Given the description of an element on the screen output the (x, y) to click on. 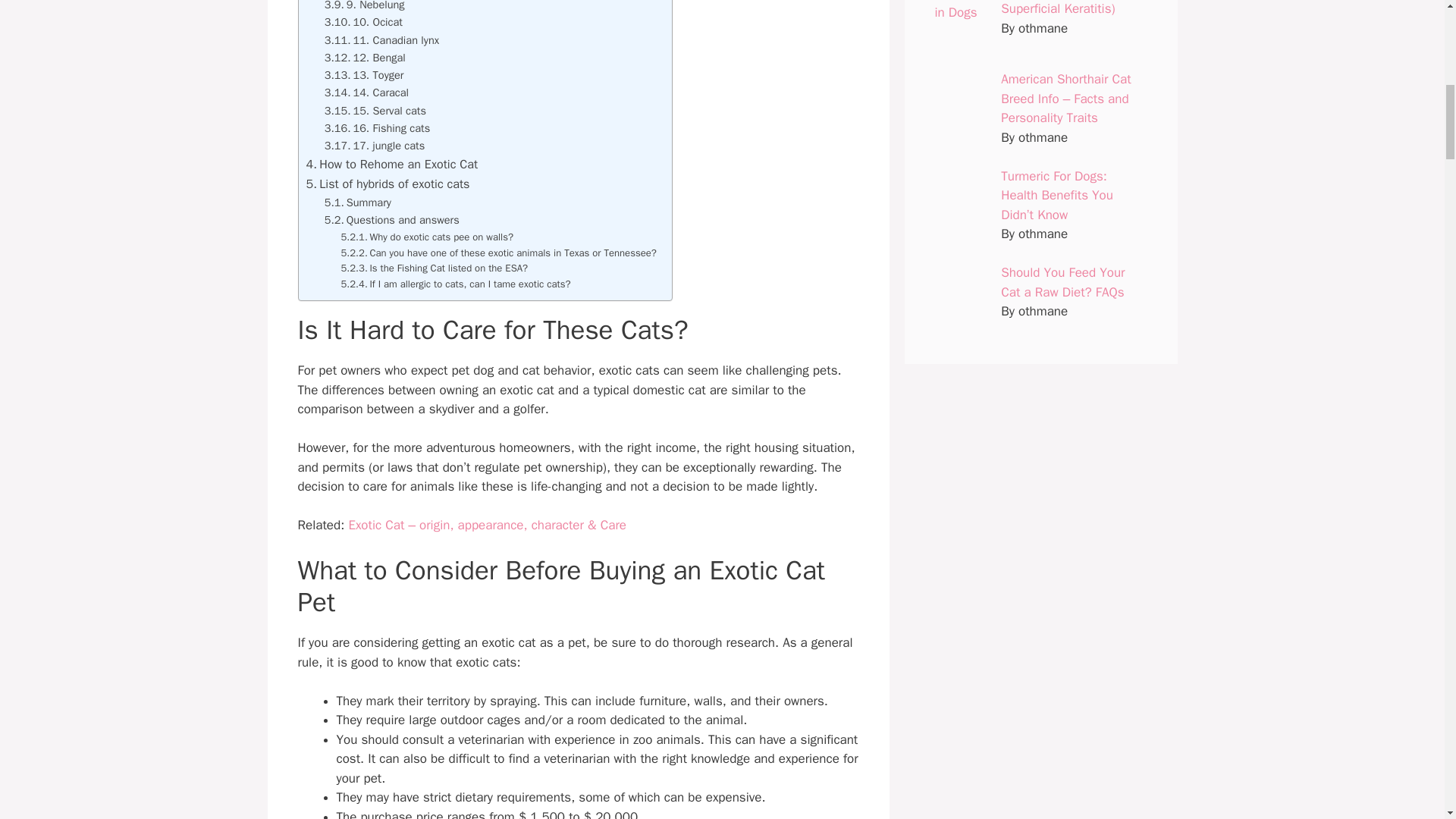
Questions and answers (392, 220)
Why do exotic cats pee on walls? (426, 237)
15. Serval cats (375, 110)
17. jungle cats (374, 145)
16. Fishing cats (377, 128)
10. Ocicat (363, 22)
Summary (357, 202)
14. Caracal (366, 92)
11. Canadian lynx (381, 40)
